Given the description of an element on the screen output the (x, y) to click on. 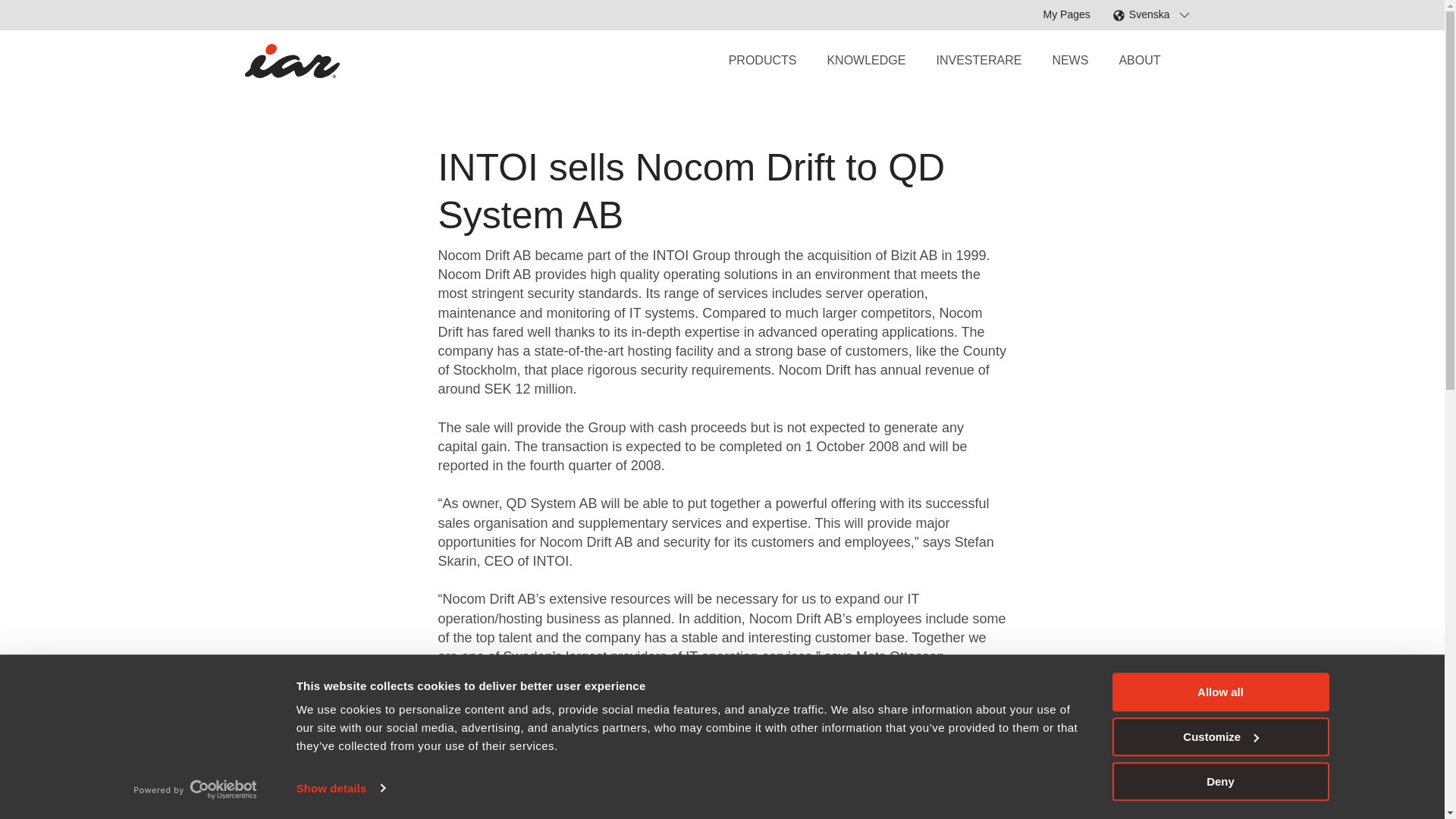
Show details (340, 787)
